Given the description of an element on the screen output the (x, y) to click on. 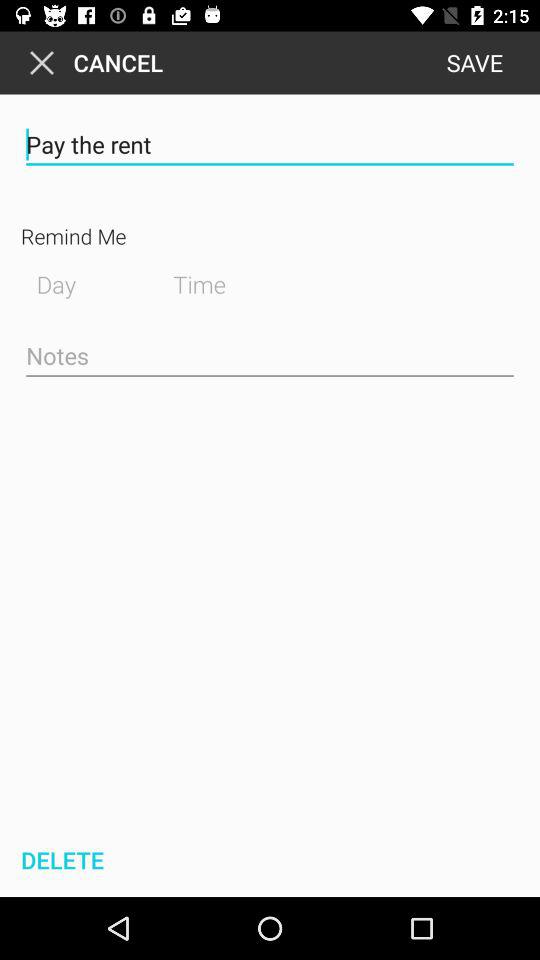
tap the item above pay the rent item (474, 62)
